Given the description of an element on the screen output the (x, y) to click on. 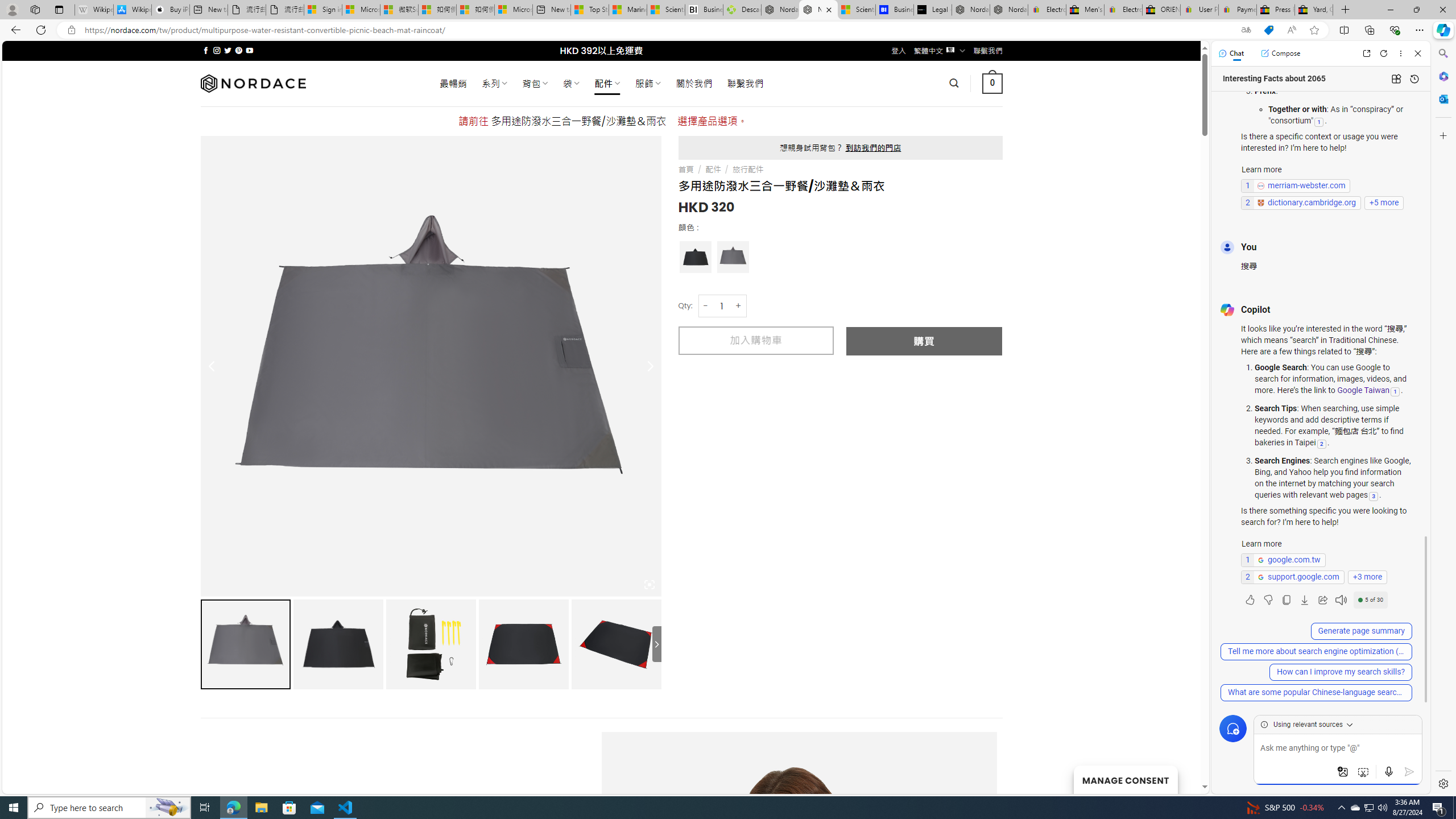
Follow on Facebook (205, 50)
Follow on Instagram (216, 50)
MANAGE CONSENT (1125, 779)
